Given the description of an element on the screen output the (x, y) to click on. 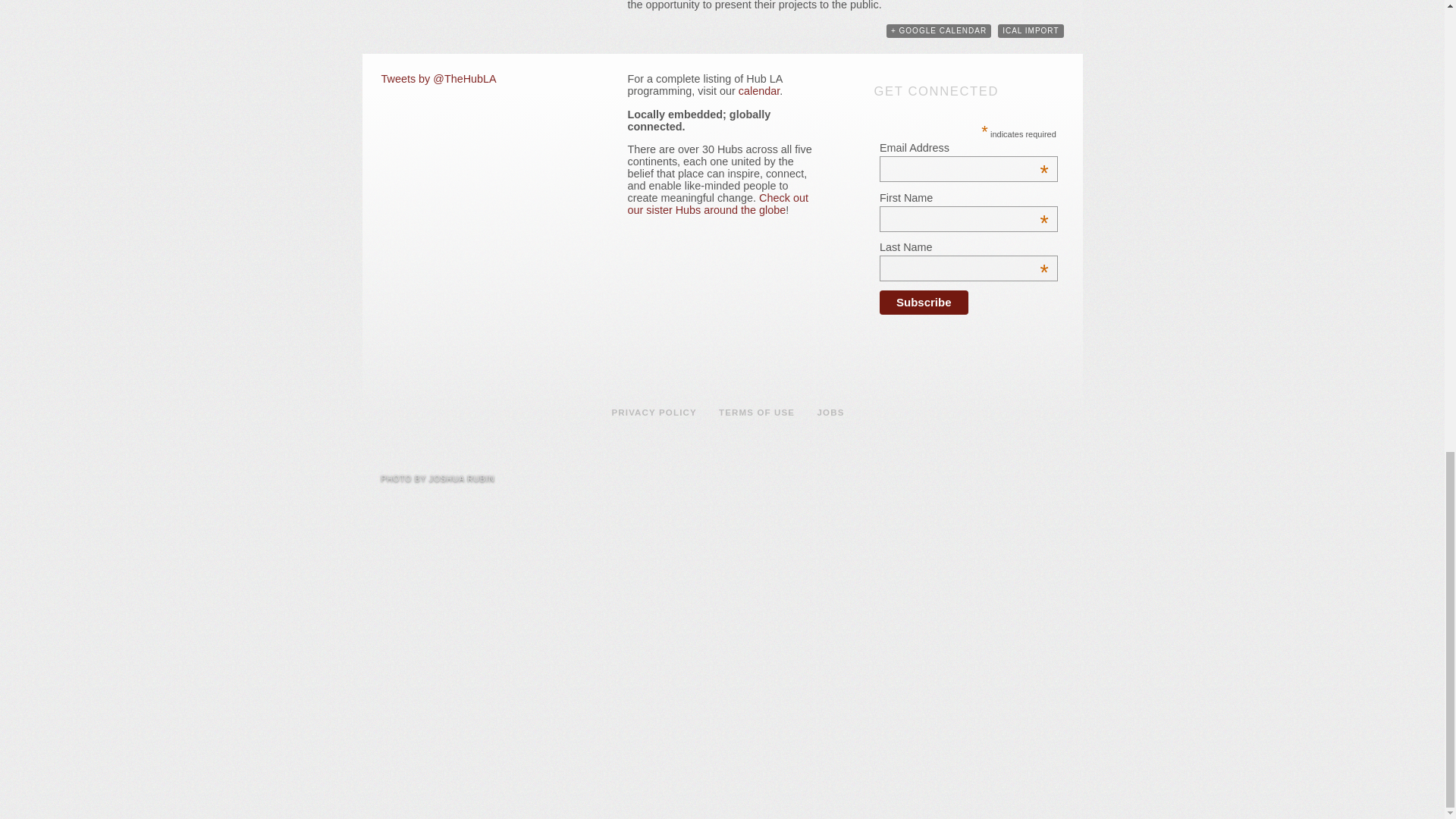
Subscribe (923, 302)
TERMS OF USE (756, 411)
PRIVACY POLICY (653, 411)
Add to Google Calendar (938, 30)
ICAL IMPORT (1029, 30)
Subscribe (923, 302)
JOBS (830, 411)
calendar (758, 91)
Check out our sister Hubs around the globe (717, 203)
